Given the description of an element on the screen output the (x, y) to click on. 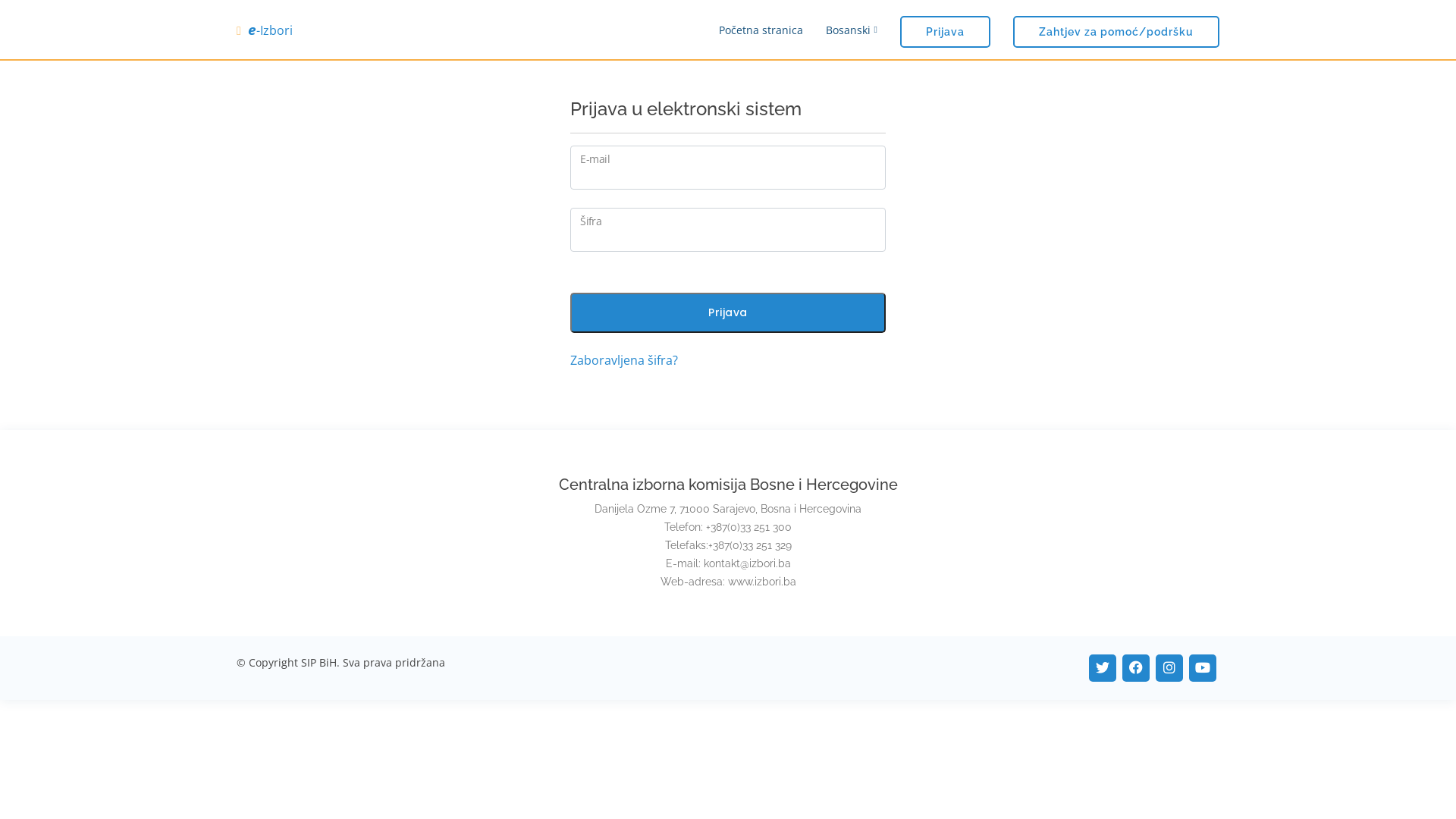
Prijava Element type: text (727, 312)
e-Izbori Element type: text (264, 29)
Bosanski Element type: text (840, 28)
Prijava Element type: text (945, 31)
